Given the description of an element on the screen output the (x, y) to click on. 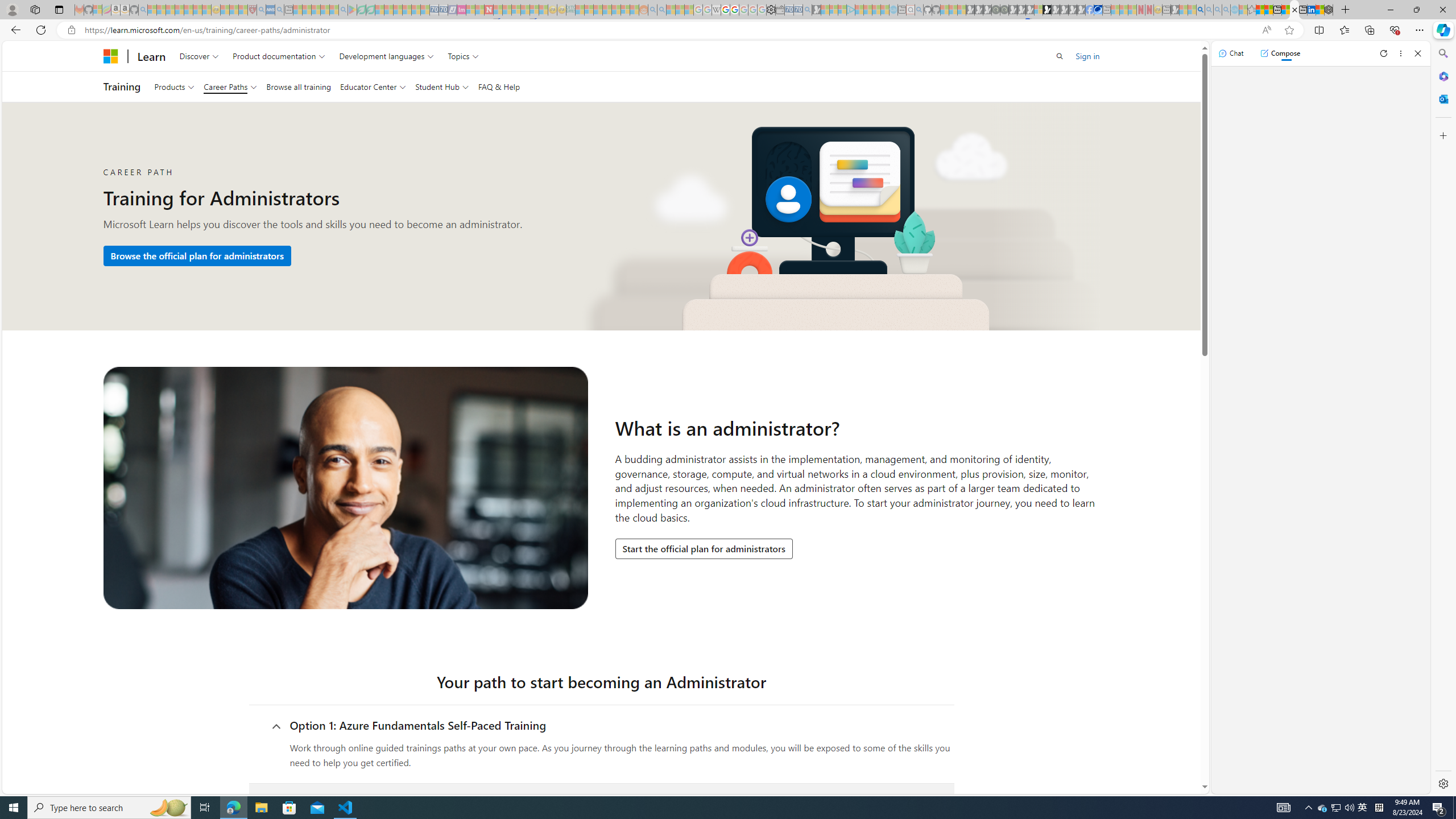
Nordace | Facebook - Sleeping (1089, 9)
Compose (1279, 52)
Side bar (1443, 418)
Student Hub (441, 86)
New tab - Sleeping (1165, 9)
Bing AI - Search (1200, 9)
Browse the official plan for administrators (197, 255)
Products (174, 86)
